Given the description of an element on the screen output the (x, y) to click on. 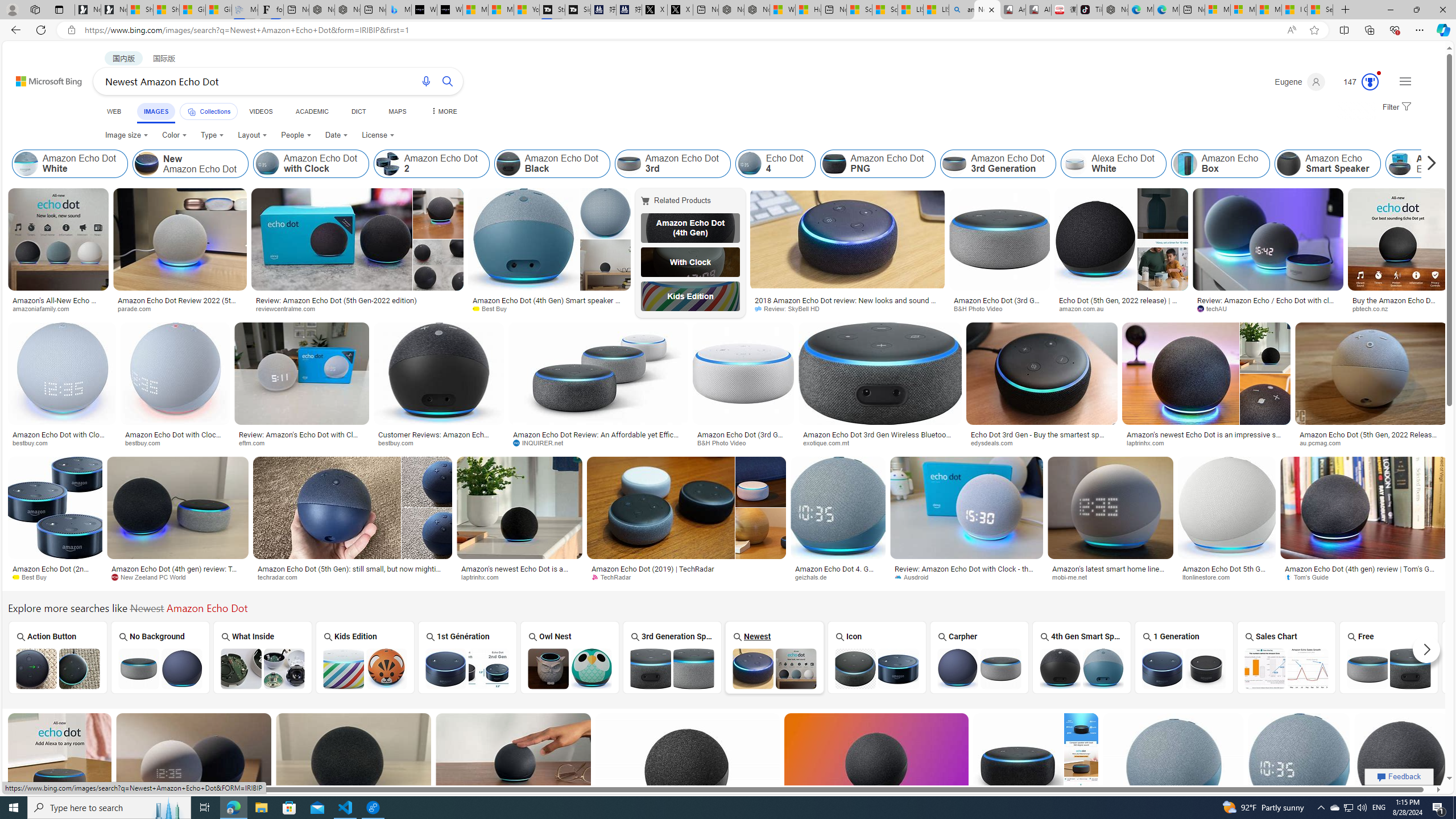
Review: Amazon Echo / Echo Dot with clock (4th gen) - techAU (1267, 303)
Newest Amazon Echo Dot Newest (774, 656)
techradar.com (351, 576)
Tom's Guide (1363, 576)
Amazon Echo Dot 3rd Generation (997, 163)
MAPS (397, 111)
